Given the description of an element on the screen output the (x, y) to click on. 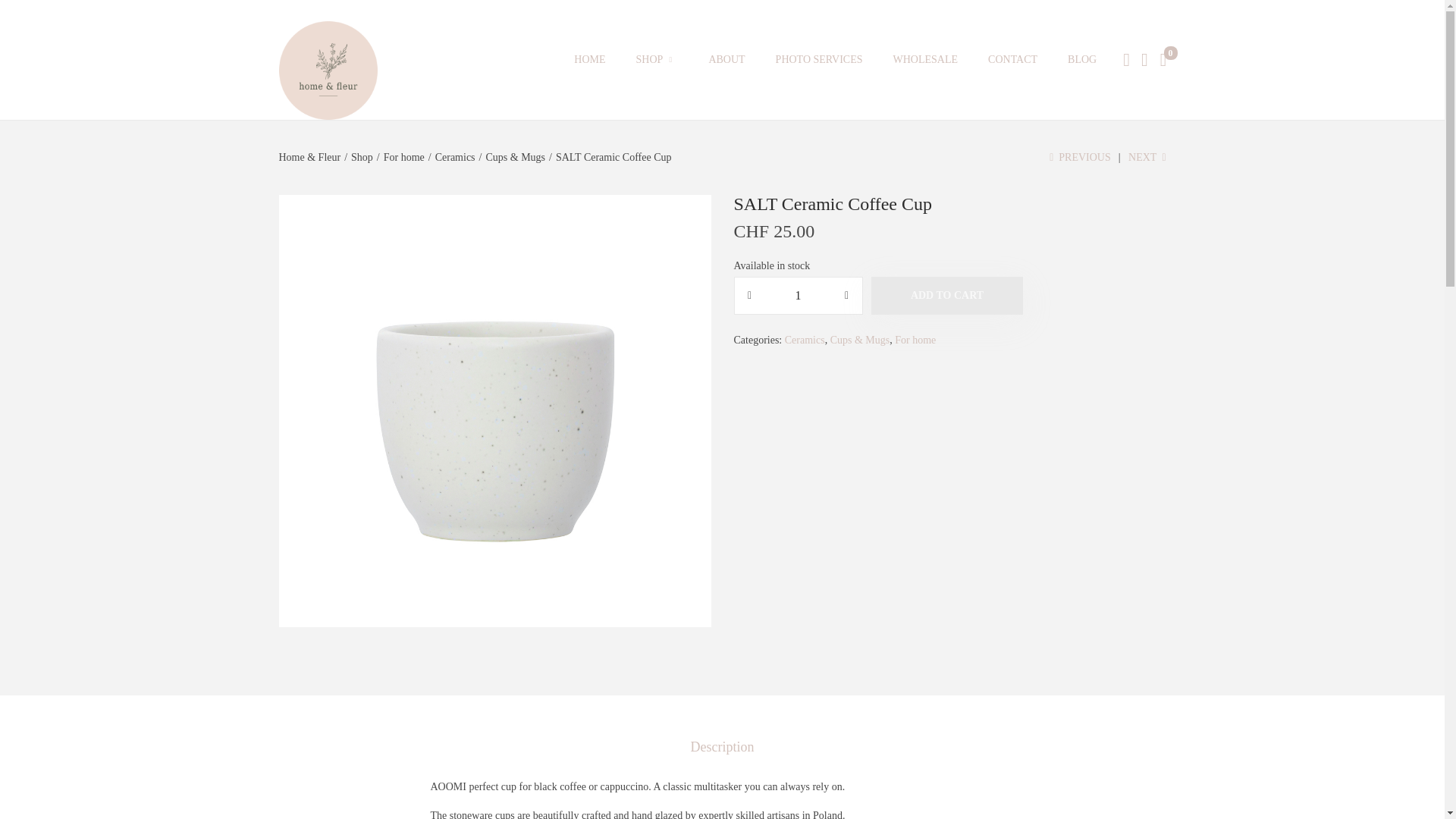
1 (797, 295)
